Given the description of an element on the screen output the (x, y) to click on. 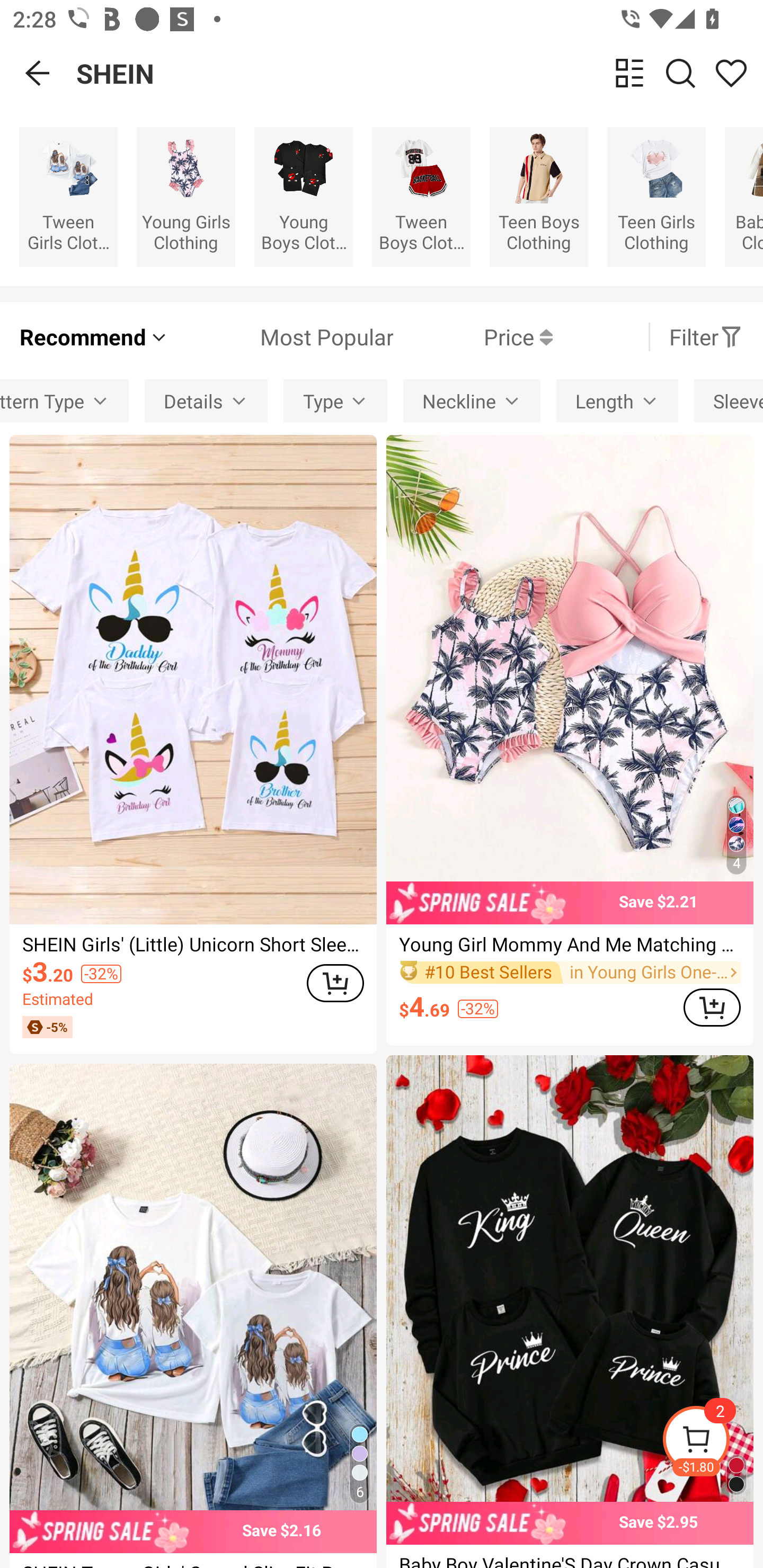
SHEIN change view Search Share (419, 72)
change view (629, 72)
Search (679, 72)
Share (730, 72)
Tween Girls Clothing (68, 196)
Young Girls Clothing (185, 196)
Young Boys Clothing (303, 196)
Tween Boys Clothing (421, 196)
Teen Boys Clothing (538, 196)
Teen Girls Clothing (656, 196)
Recommend (94, 336)
Most Popular (280, 336)
Price (472, 336)
Filter (705, 336)
Pattern Type (64, 400)
Details (205, 400)
Type (335, 400)
Neckline (471, 400)
Length (617, 400)
#10 Best Sellers in Young Girls One-Pieces (569, 971)
ADD TO CART (334, 982)
ADD TO CART (711, 1007)
-$1.80 (712, 1441)
